Given the description of an element on the screen output the (x, y) to click on. 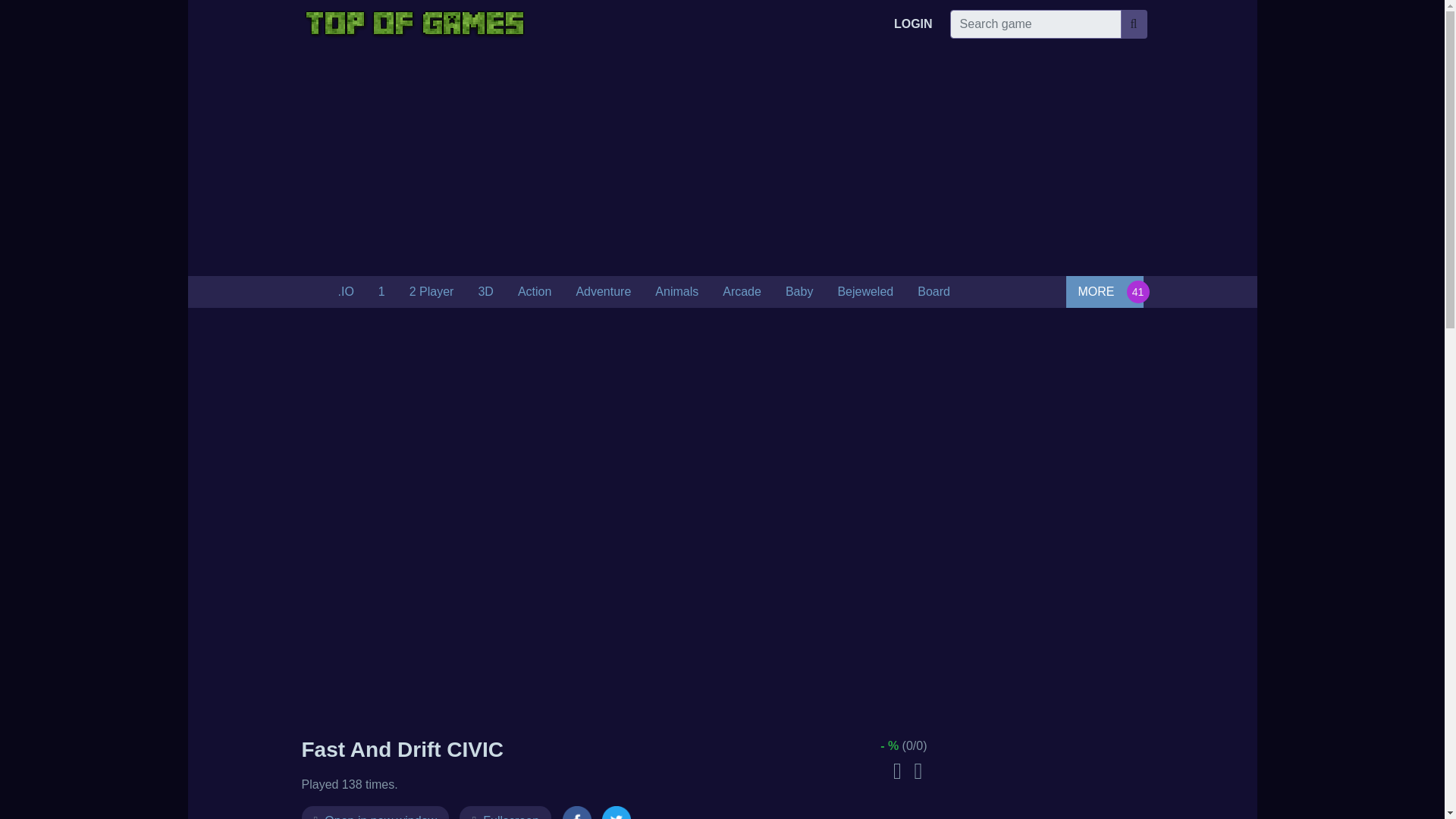
2 Player (431, 291)
MORE (1103, 291)
Animals (676, 291)
LOGIN (913, 24)
Bejeweled (865, 291)
.IO (346, 291)
Adventure (603, 291)
1 (381, 291)
Arcade (741, 291)
3D (485, 291)
Board (933, 291)
Baby (799, 291)
Action (534, 291)
